Given the description of an element on the screen output the (x, y) to click on. 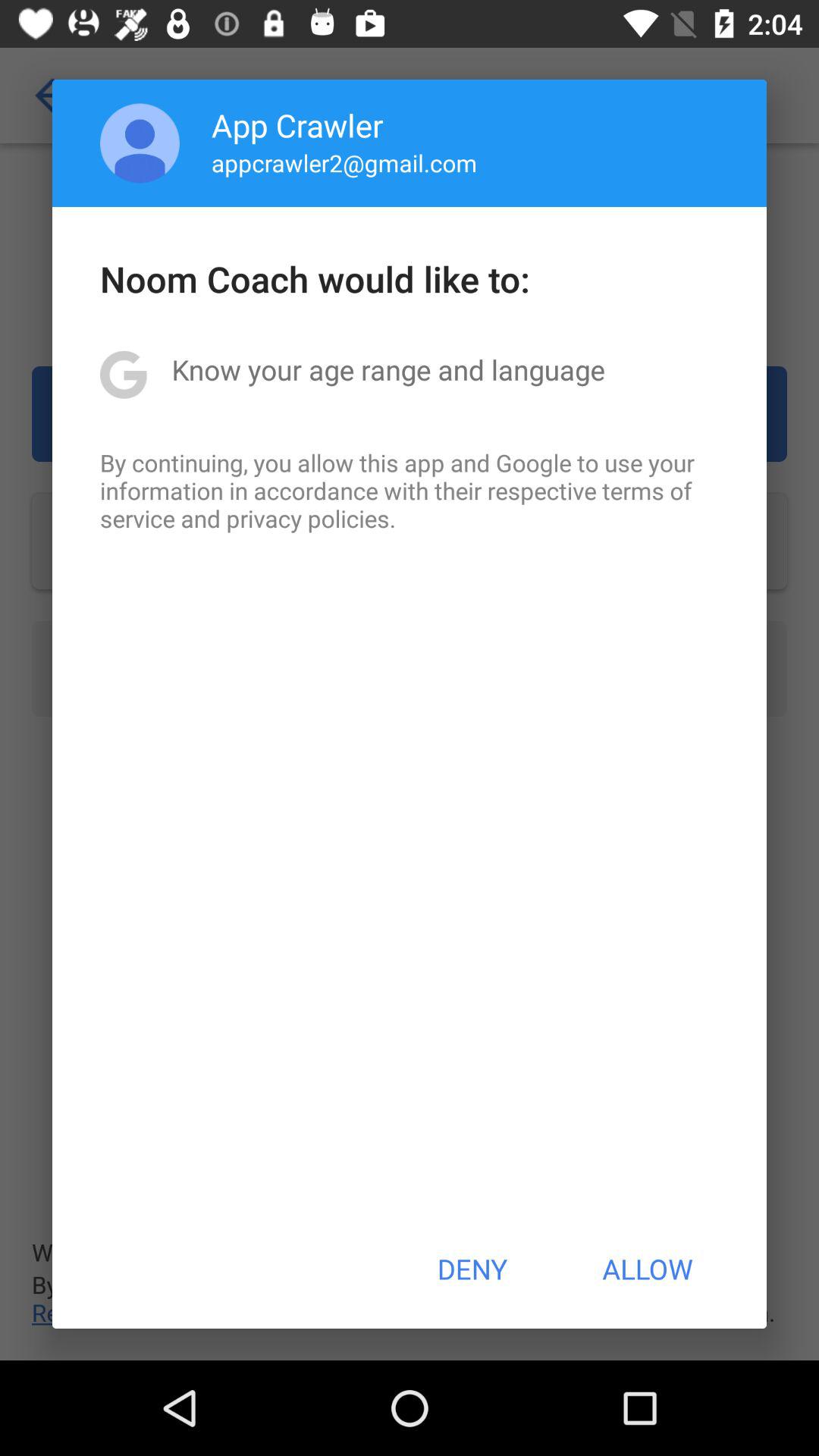
select the item to the left of app crawler app (139, 143)
